Given the description of an element on the screen output the (x, y) to click on. 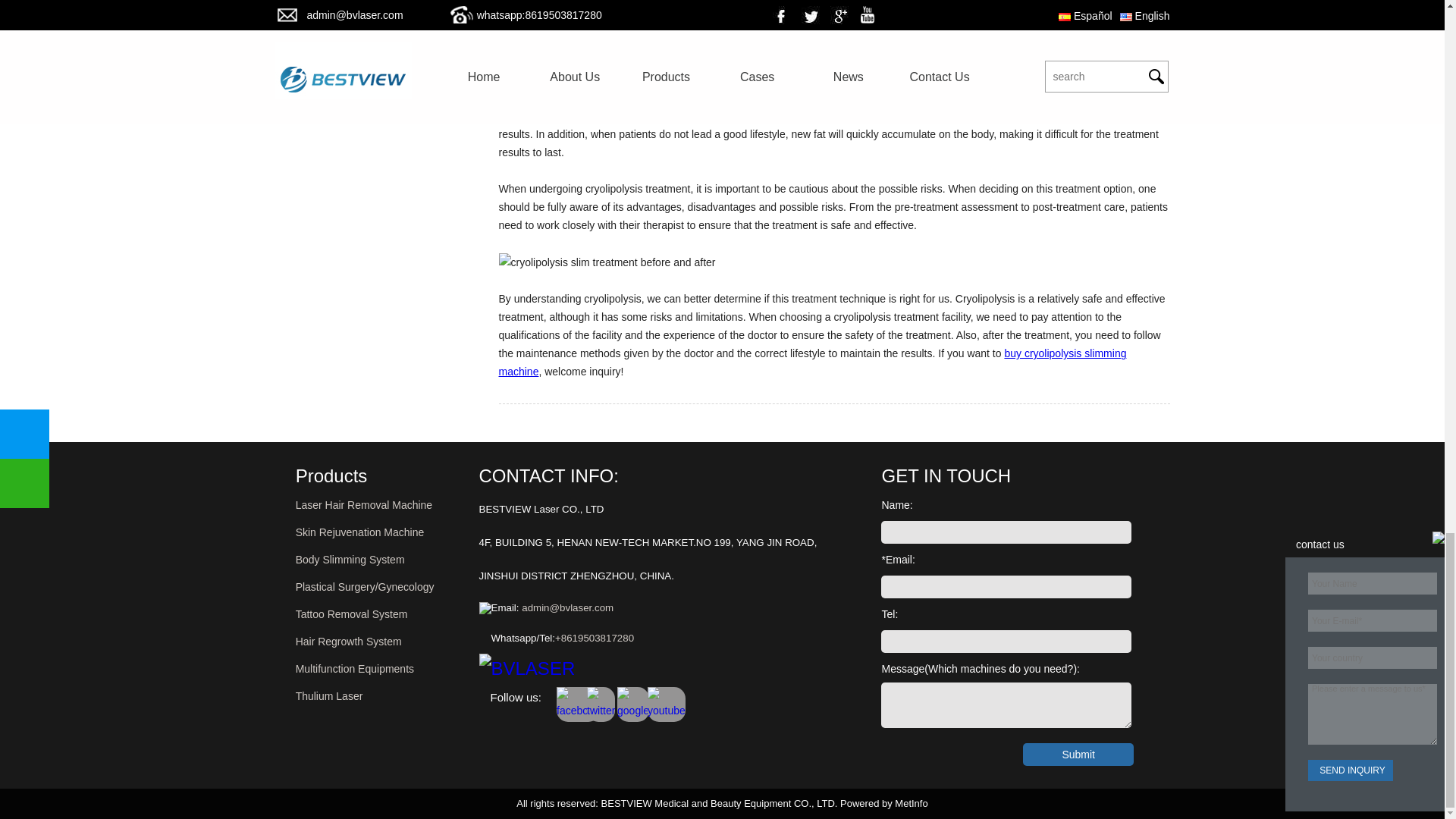
Submit (1078, 753)
